Given the description of an element on the screen output the (x, y) to click on. 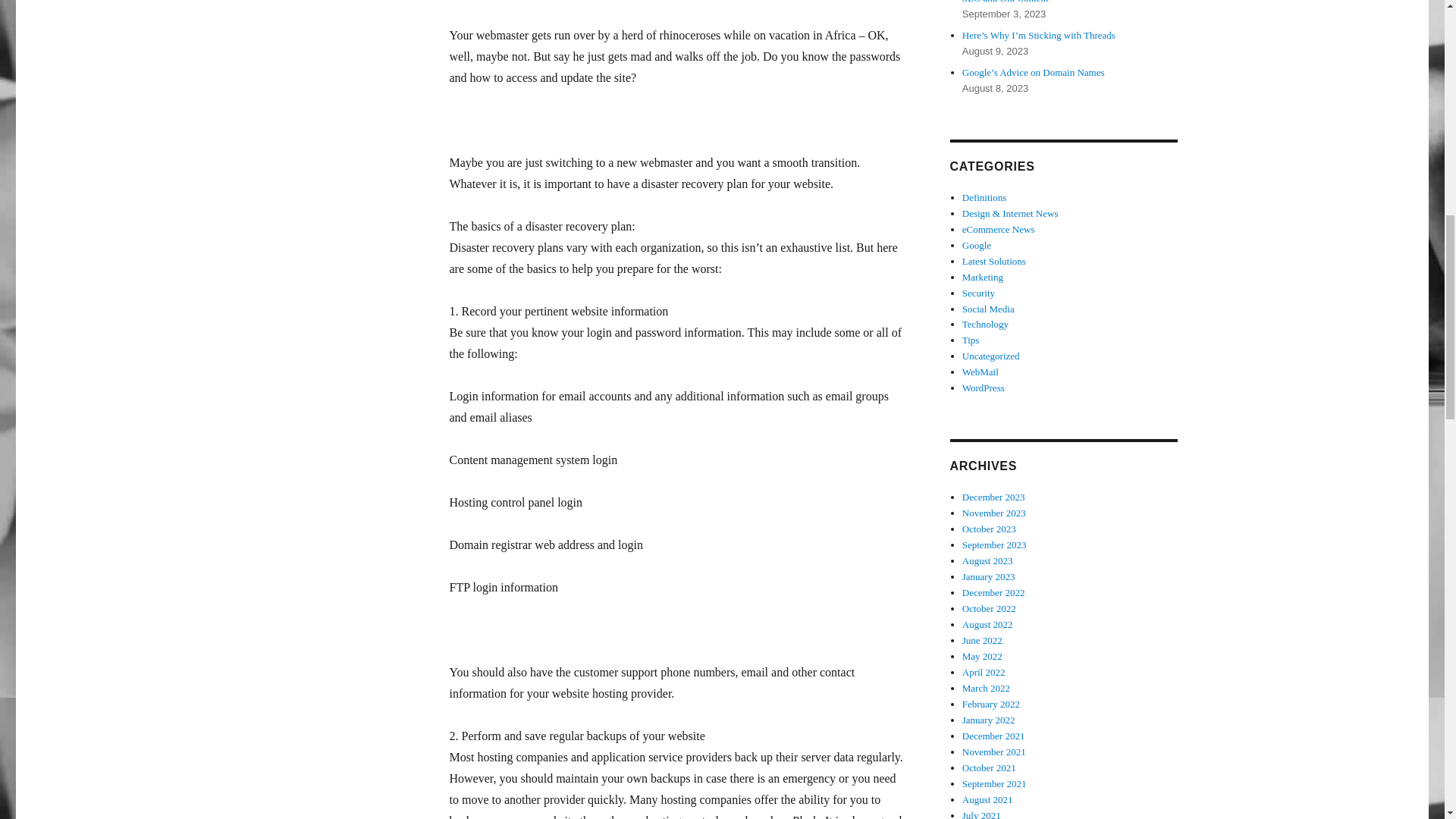
Latest Solutions (994, 260)
Social Media (988, 308)
Security (978, 292)
Marketing (982, 276)
Tips (970, 339)
Technology (985, 324)
Uncategorized (991, 355)
eCommerce News (998, 229)
SEO and Old Content (1005, 2)
Definitions (984, 197)
Google (976, 244)
WordPress (983, 387)
WebMail (980, 371)
